Given the description of an element on the screen output the (x, y) to click on. 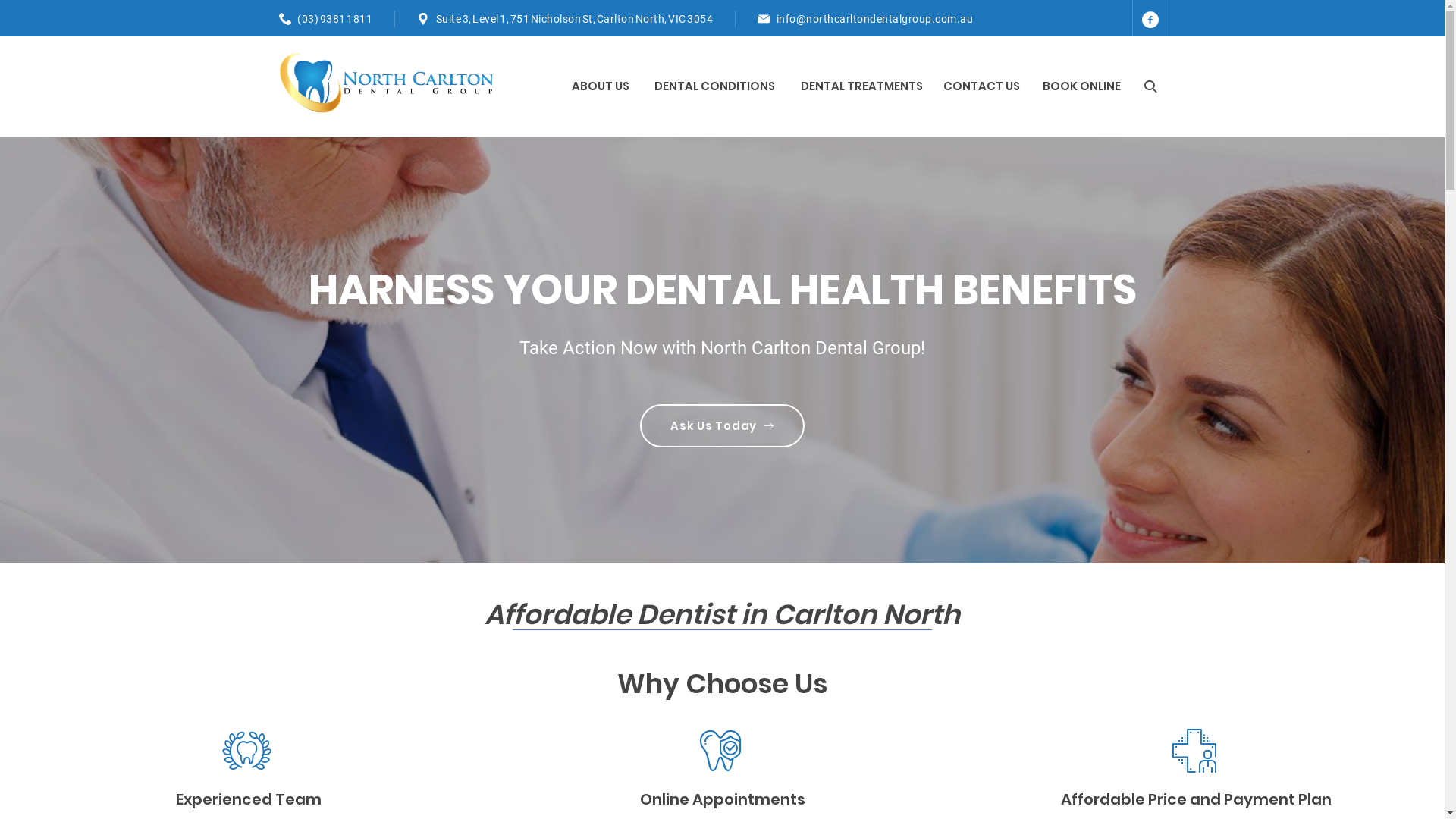
BOOK ONLINE Element type: text (1080, 86)
DENTAL TREATMENTS Element type: text (862, 86)
CONTACT US Element type: text (981, 86)
info@northcarltondentalgroup.com.au Element type: text (874, 18)
ABOUT US Element type: text (601, 86)
Suite 3, Level 1, 751 Nicholson St, Carlton North, VIC 3054 Element type: text (573, 18)
Ask Us Today Element type: text (722, 425)
(03) 9381 1811 Element type: text (334, 18)
DENTAL CONDITIONS Element type: text (716, 86)
Search Element type: text (1149, 86)
